Given the description of an element on the screen output the (x, y) to click on. 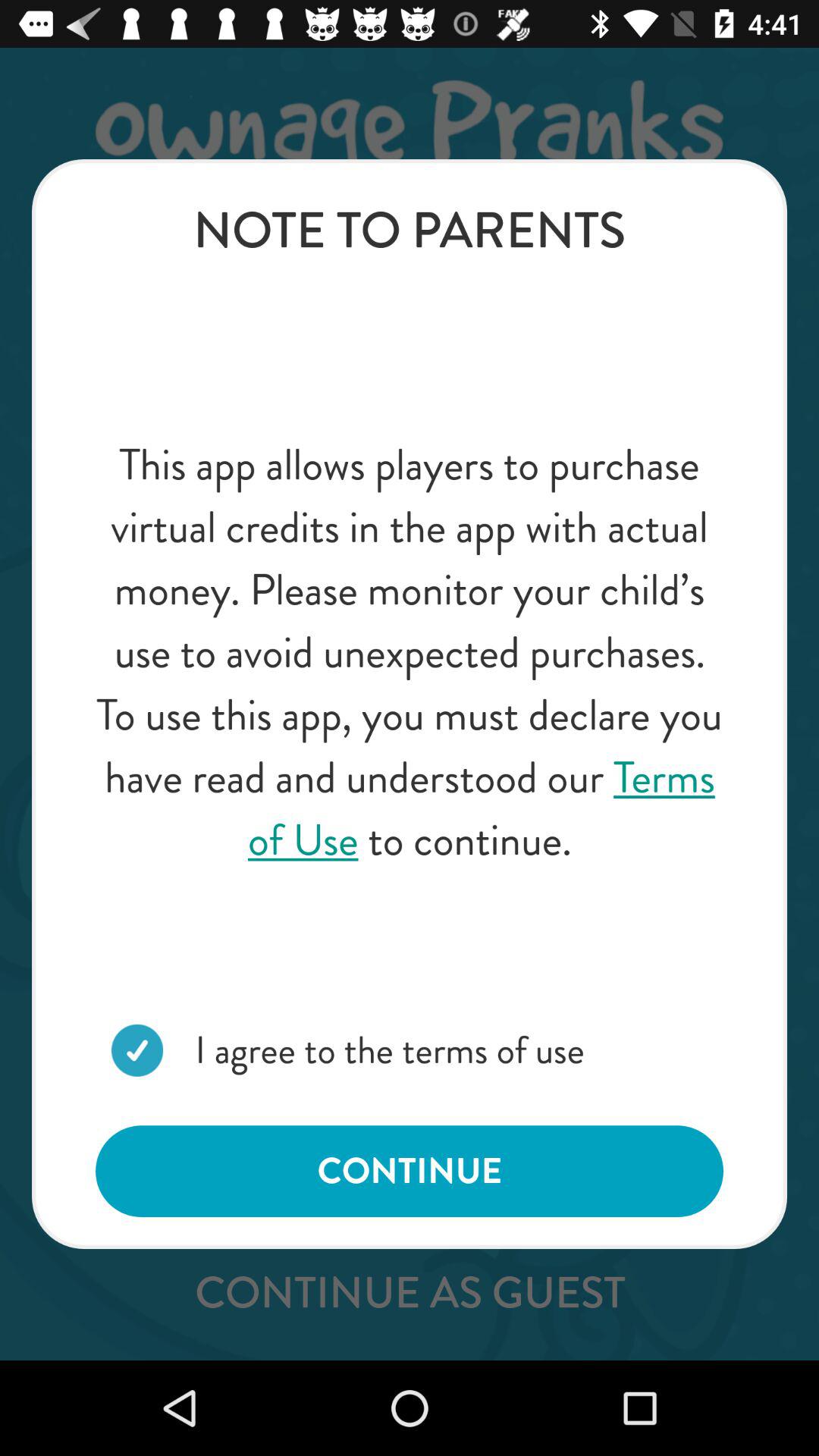
swipe to continue (409, 1171)
